Given the description of an element on the screen output the (x, y) to click on. 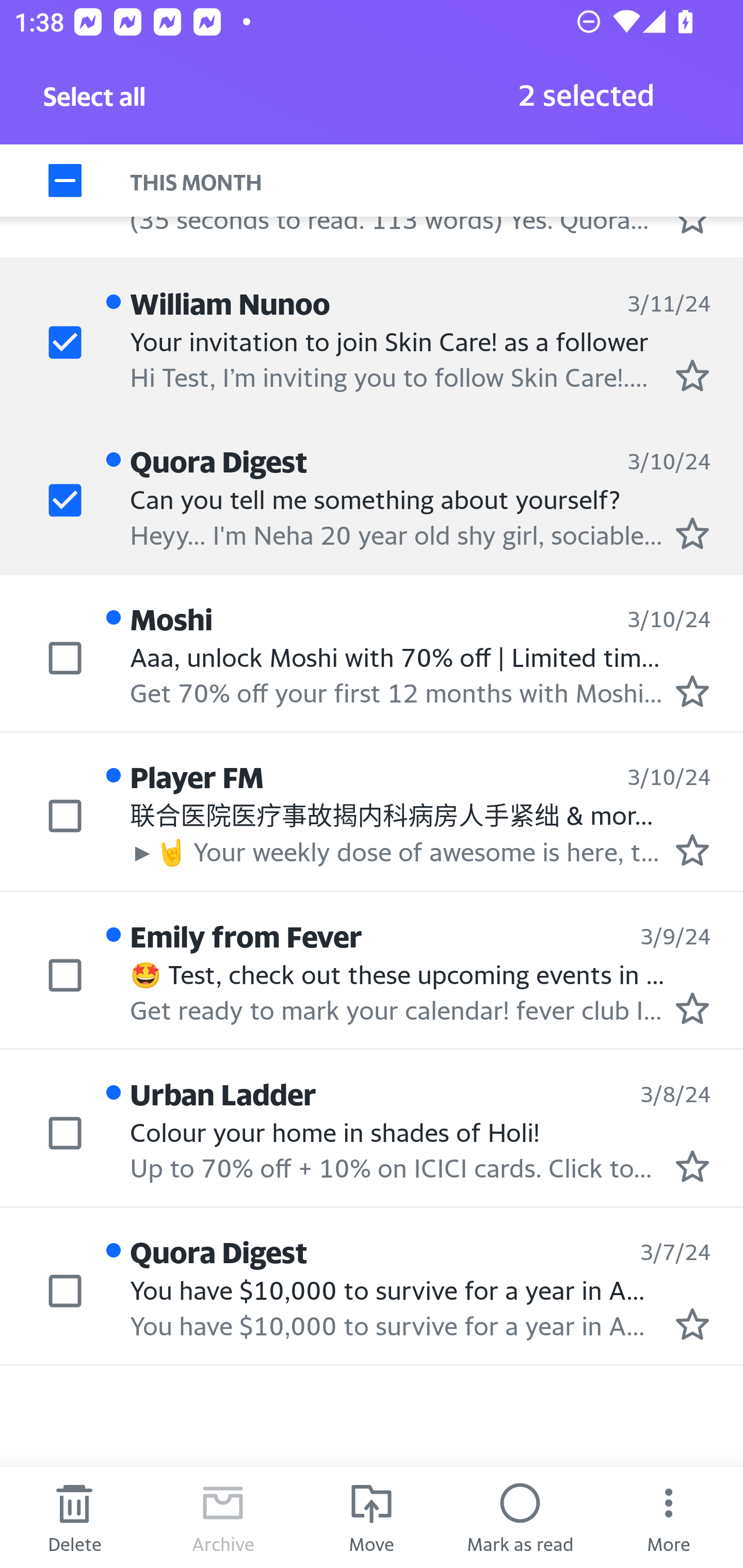
Select all (94, 101)
Mark as starred. (692, 375)
Mark as starred. (692, 533)
Mark as starred. (692, 690)
Mark as starred. (692, 850)
Mark as starred. (692, 1008)
Mark as starred. (692, 1165)
Mark as starred. (692, 1324)
Delete (74, 1517)
Archive (222, 1517)
Move (371, 1517)
Mark as read (519, 1517)
More (668, 1517)
